Given the description of an element on the screen output the (x, y) to click on. 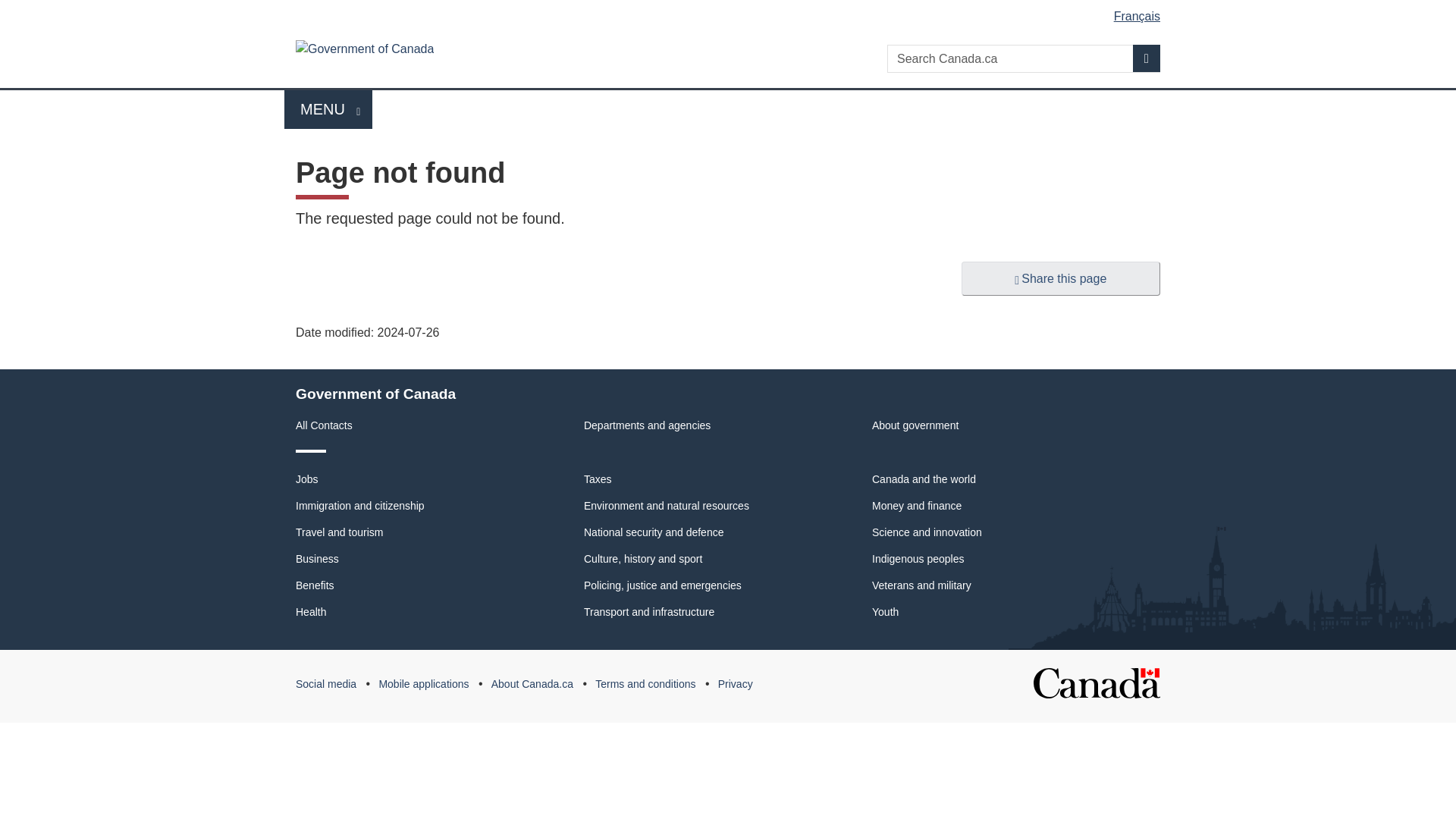
Search (327, 109)
Skip to main content (1146, 58)
